Given the description of an element on the screen output the (x, y) to click on. 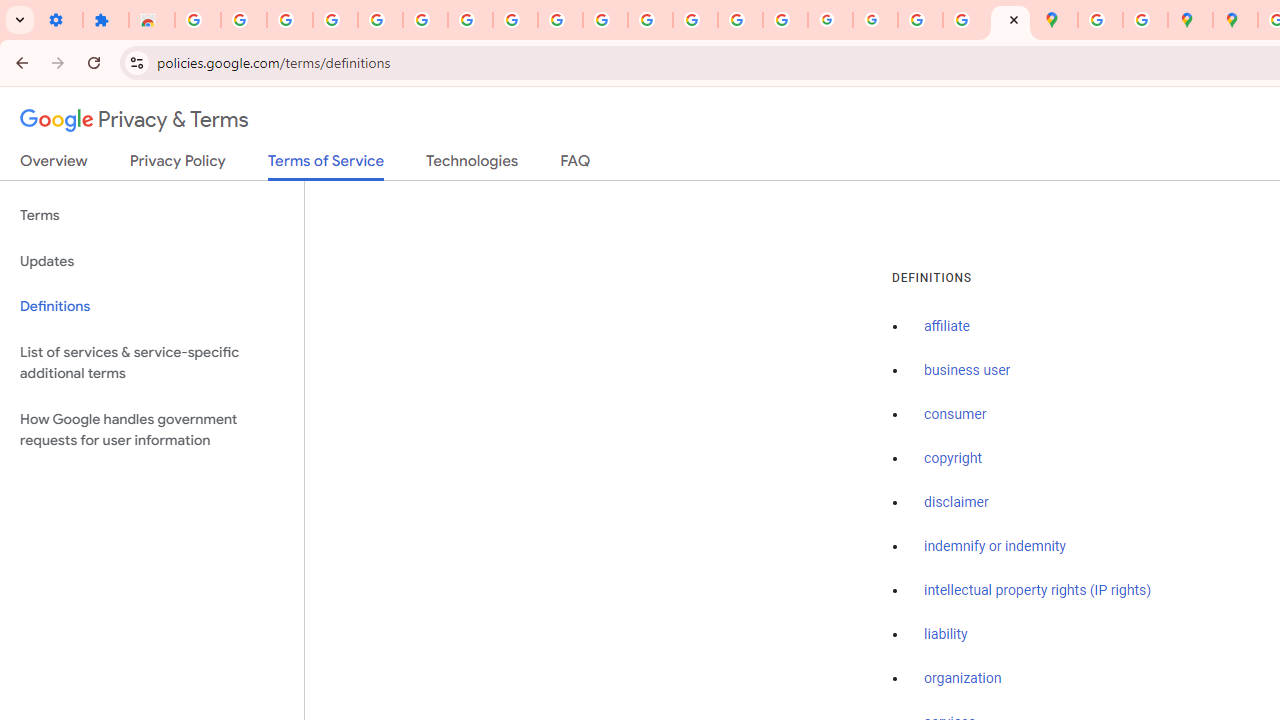
indemnify or indemnity (995, 546)
Delete photos & videos - Computer - Google Photos Help (290, 20)
Google Account (514, 20)
